Given the description of an element on the screen output the (x, y) to click on. 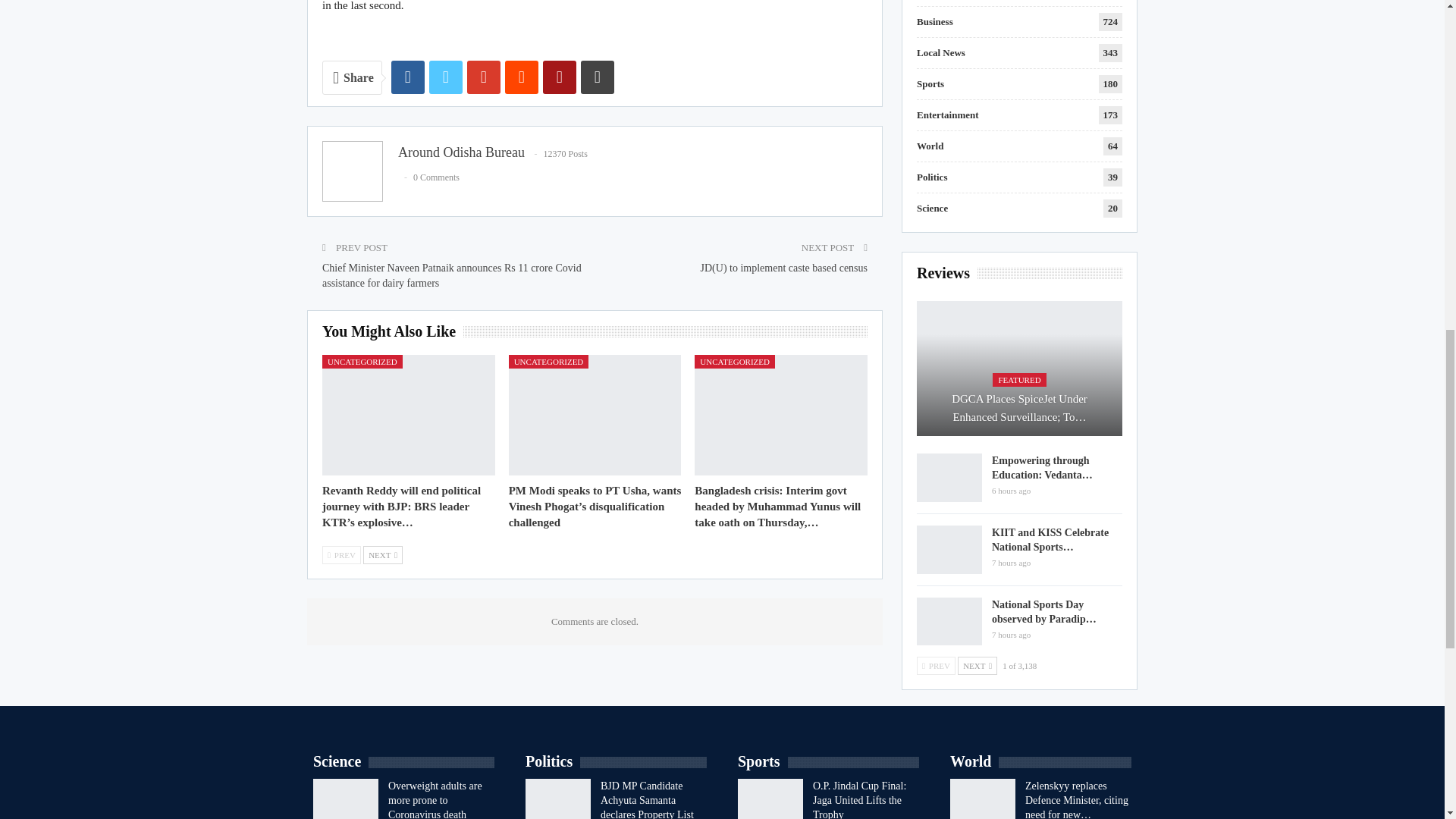
Around Odisha Bureau (460, 151)
UNCATEGORIZED (362, 361)
Next (382, 555)
Previous (341, 555)
You Might Also Like (392, 332)
